Given the description of an element on the screen output the (x, y) to click on. 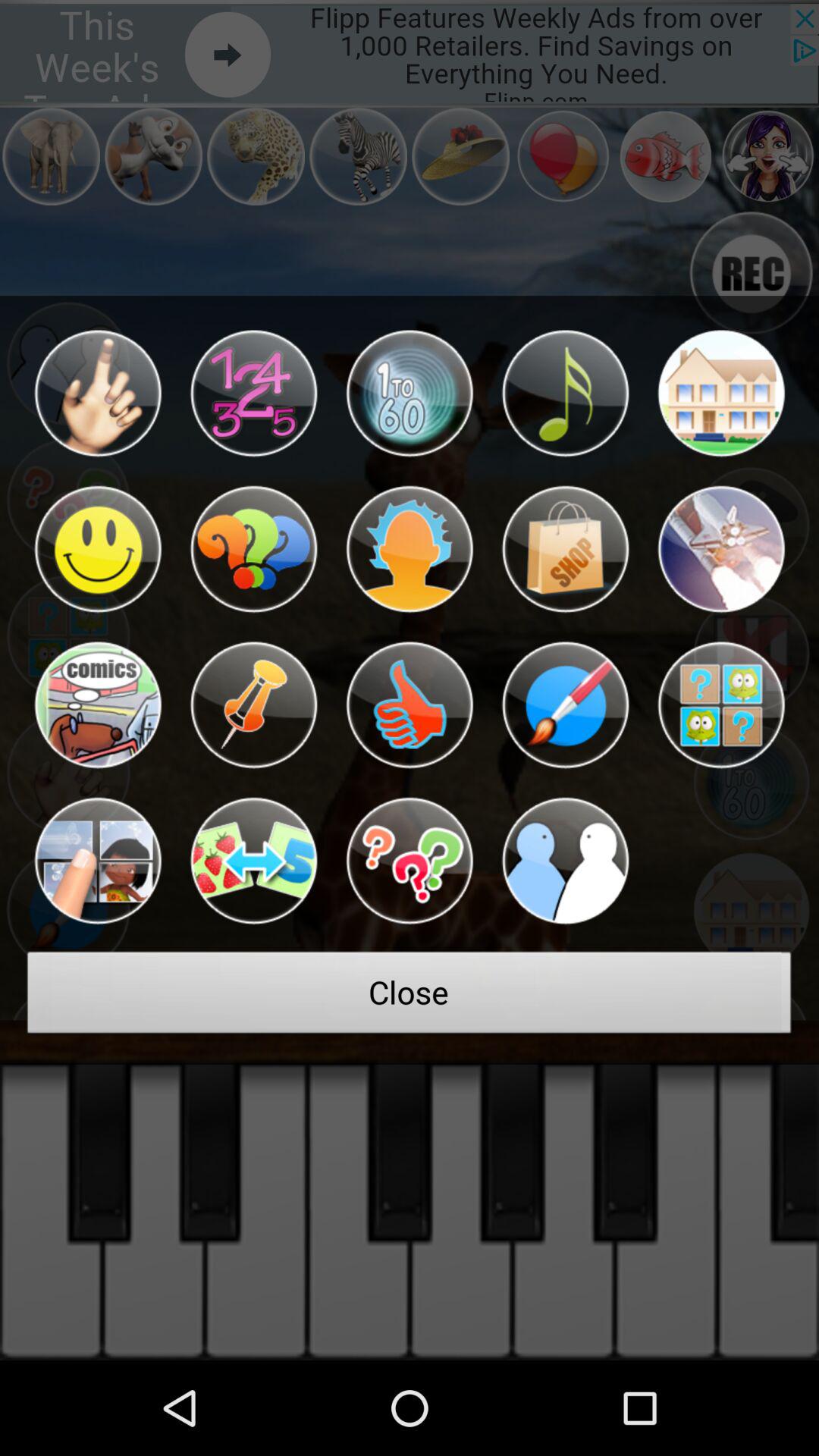
turn off the button above the close icon (97, 861)
